Given the description of an element on the screen output the (x, y) to click on. 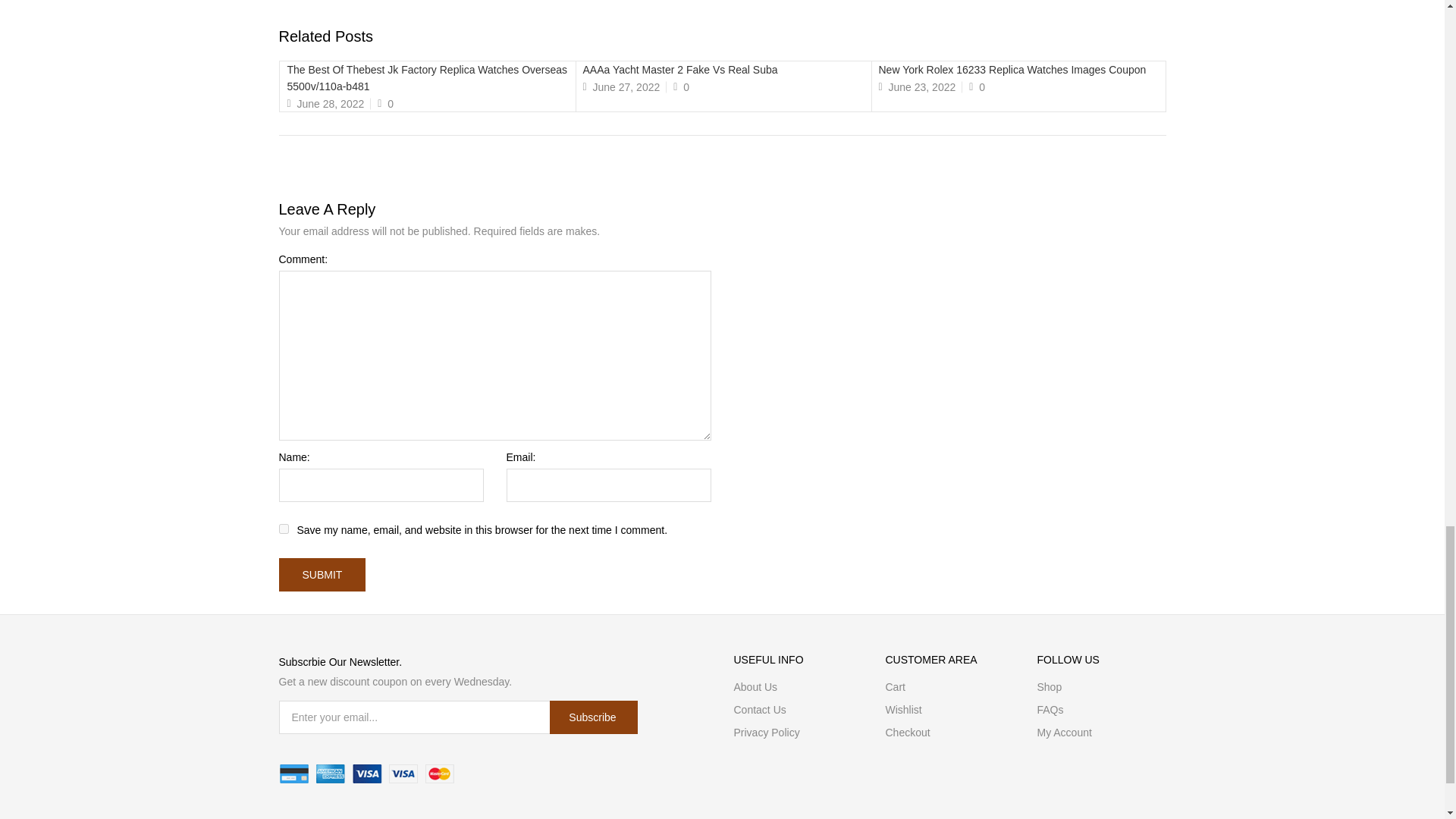
submit (322, 574)
payments (366, 773)
subscribe (593, 717)
yes (283, 528)
